Given the description of an element on the screen output the (x, y) to click on. 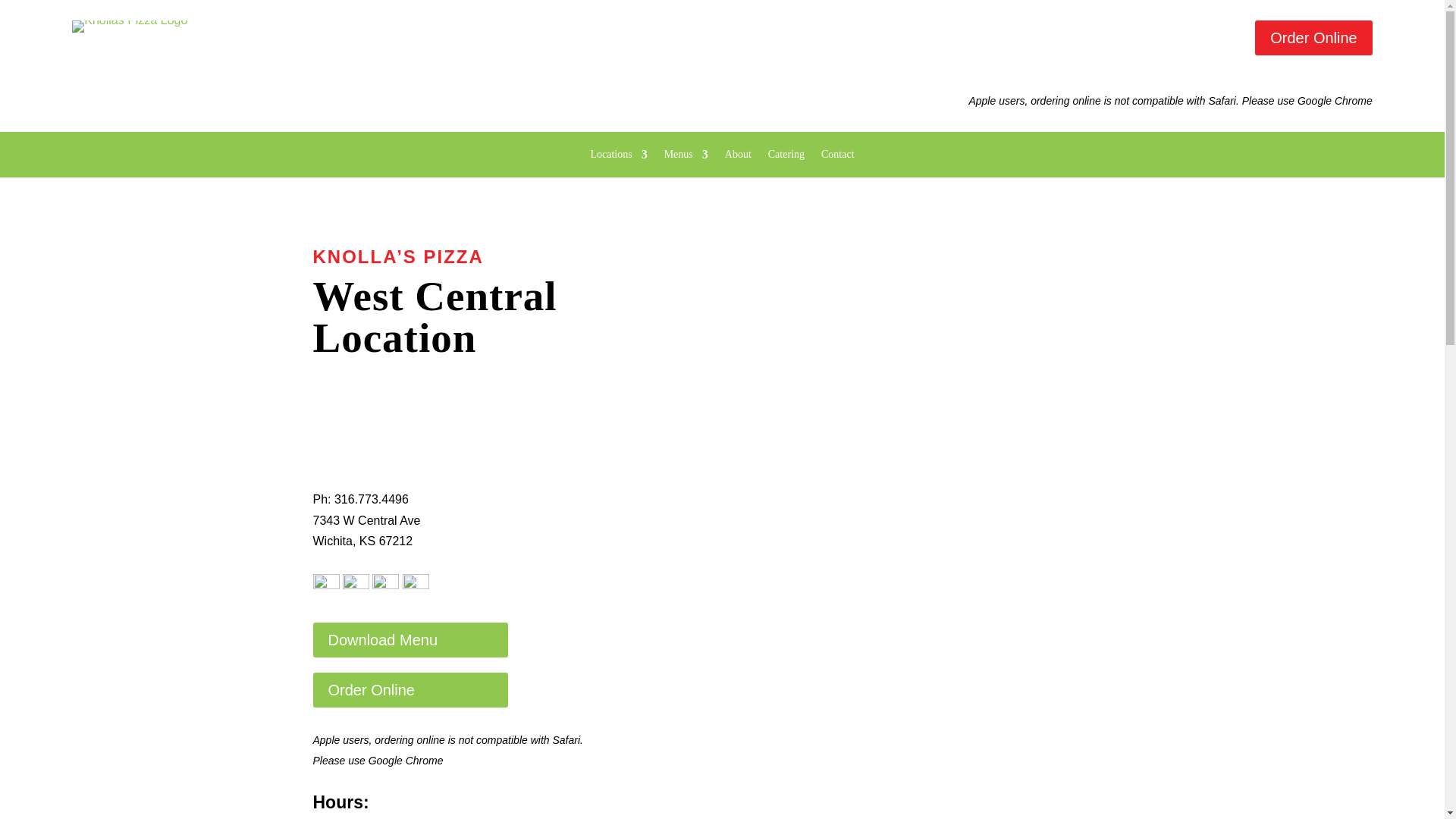
Order Online (1314, 37)
Catering (786, 157)
About (738, 157)
Contact (837, 157)
Locations (617, 157)
Order Online (410, 689)
Menus (685, 157)
knollas-pizza-logo (129, 26)
Download Menu (410, 639)
